Given the description of an element on the screen output the (x, y) to click on. 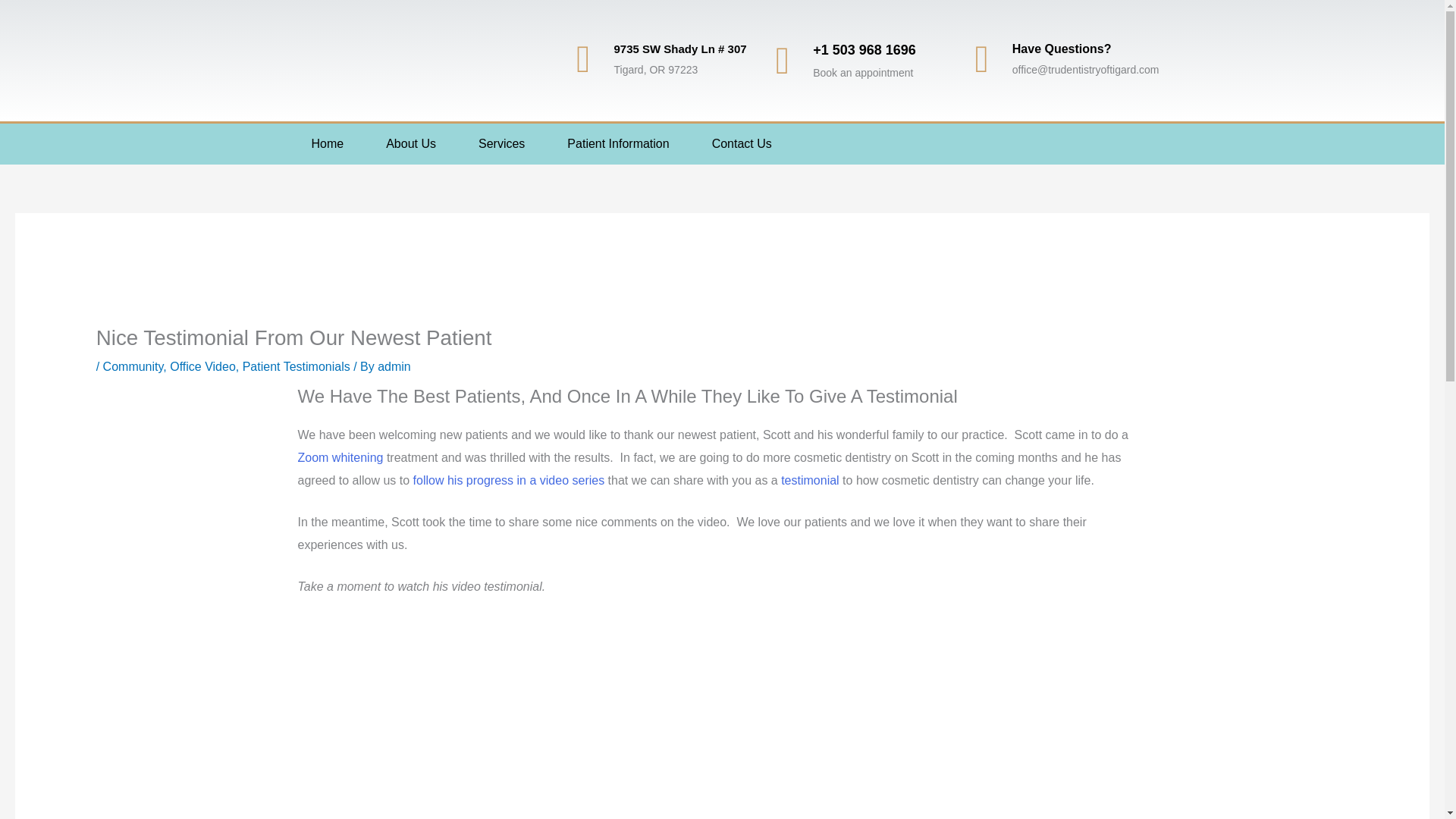
About Us (411, 143)
Home (327, 143)
Have Questions? (1061, 48)
Services (501, 143)
Patient Information (618, 143)
Contact Us (741, 143)
View all posts by admin (393, 366)
